Given the description of an element on the screen output the (x, y) to click on. 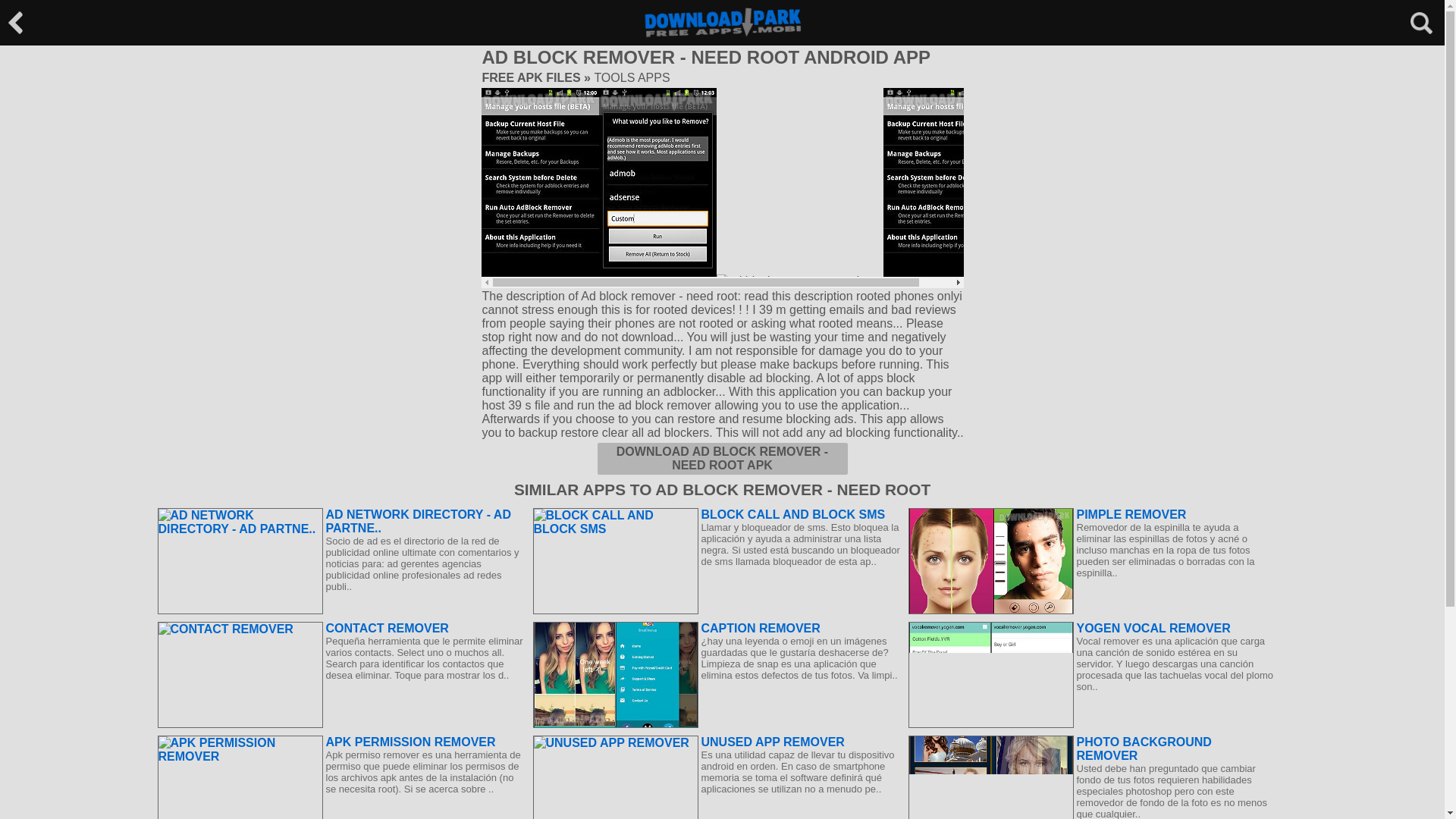
BLOCK CALL AND BLOCK SMS (715, 514)
CONTACT REMOVER (341, 628)
TOOLS APPS (631, 77)
CAPTION REMOVER (715, 628)
DOWNLOAD AD BLOCK REMOVER - NEED ROOT APK (721, 459)
PHOTO BACKGROUND REMOVER (1092, 748)
YOGEN VOCAL REMOVER (1092, 628)
APK PERMISSION REMOVER (341, 742)
AD NETWORK DIRECTORY - AD PARTNE.. (341, 521)
UNUSED APP REMOVER (715, 742)
